Given the description of an element on the screen output the (x, y) to click on. 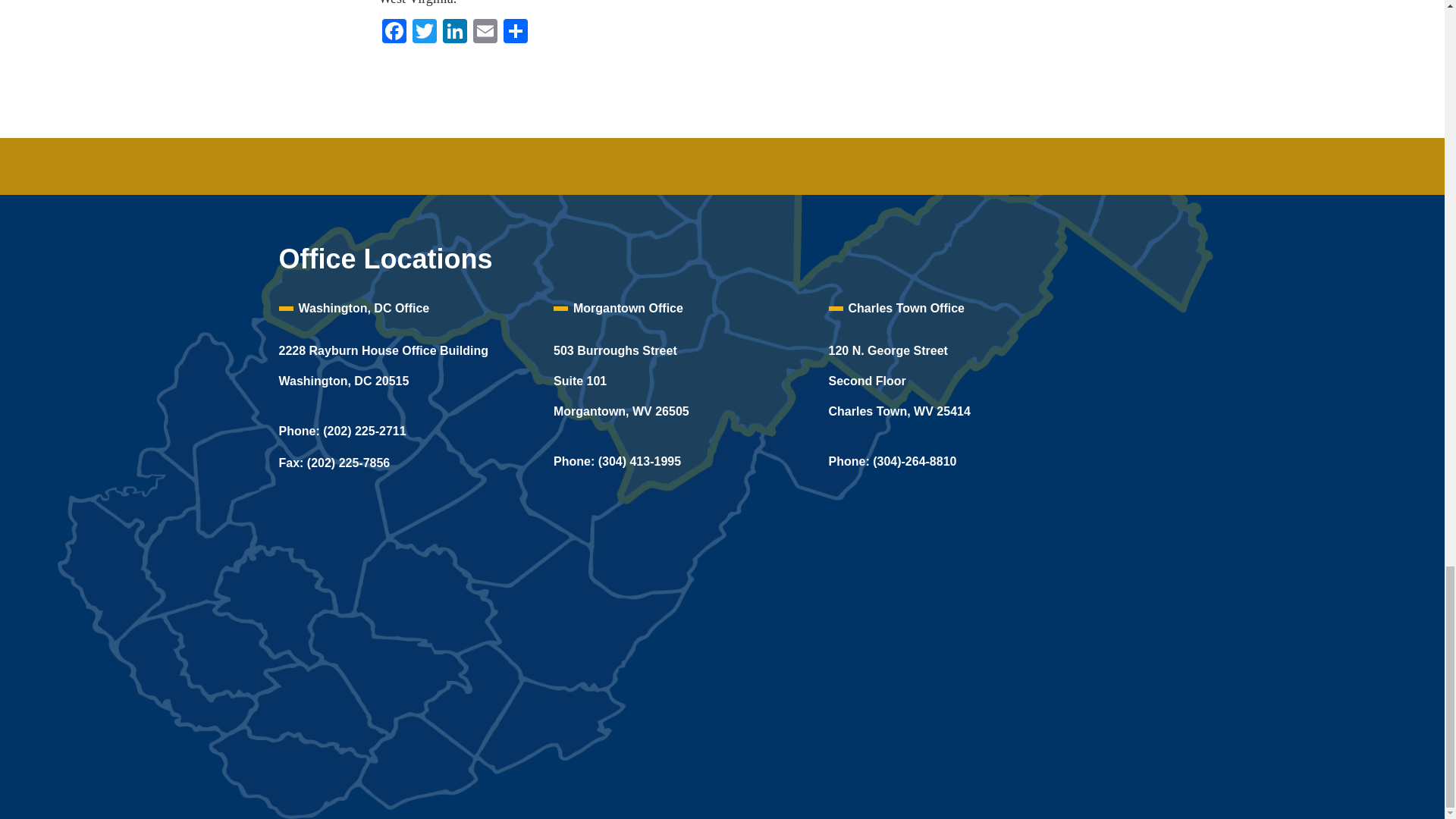
LinkedIn (454, 32)
Facebook (393, 32)
Twitter (424, 32)
Email (485, 32)
